Given the description of an element on the screen output the (x, y) to click on. 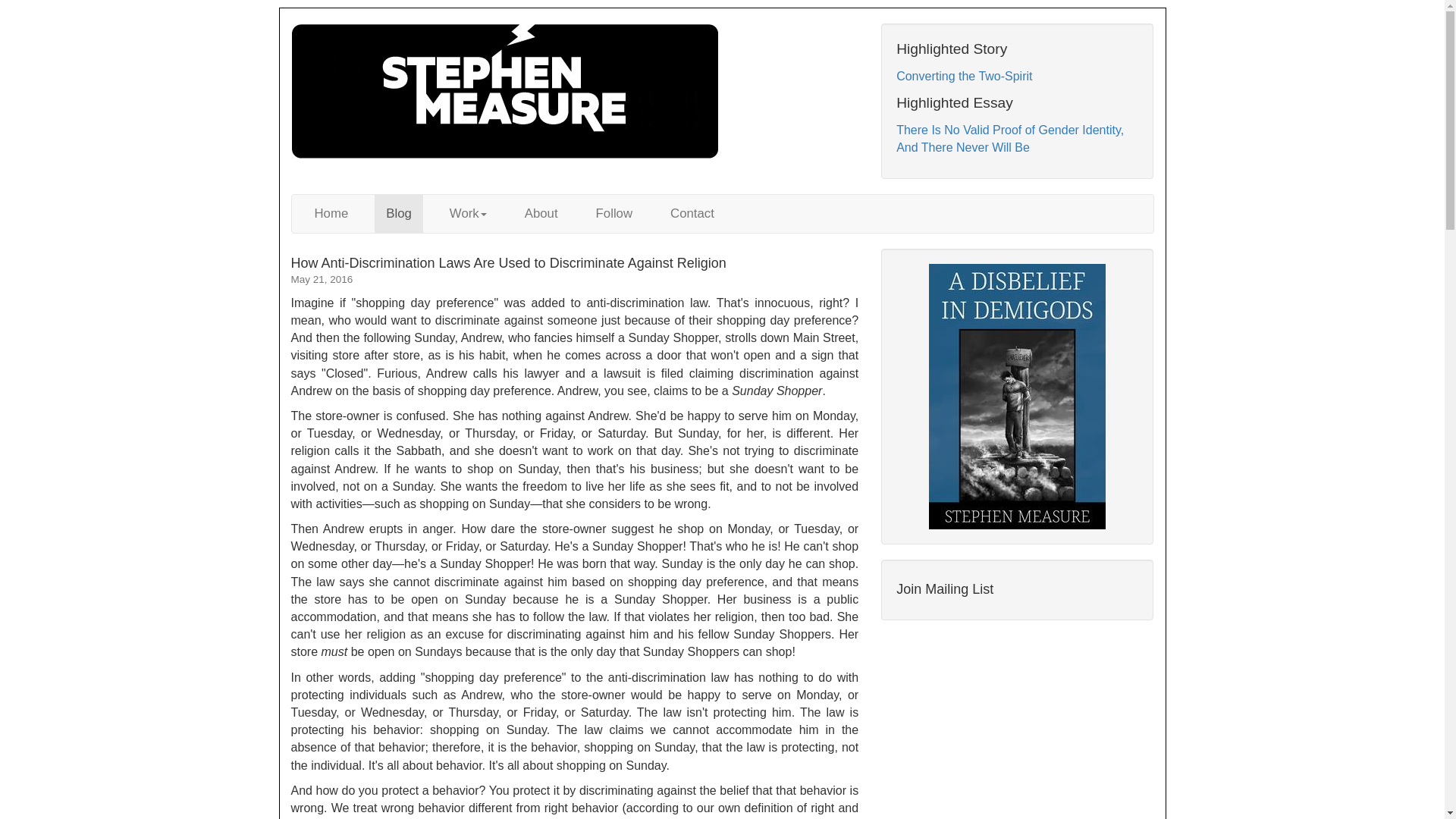
Follow (615, 213)
Blog (398, 213)
Home (330, 213)
About (541, 213)
Contact (692, 213)
Work (467, 213)
Converting the Two-Spirit (964, 75)
